Given the description of an element on the screen output the (x, y) to click on. 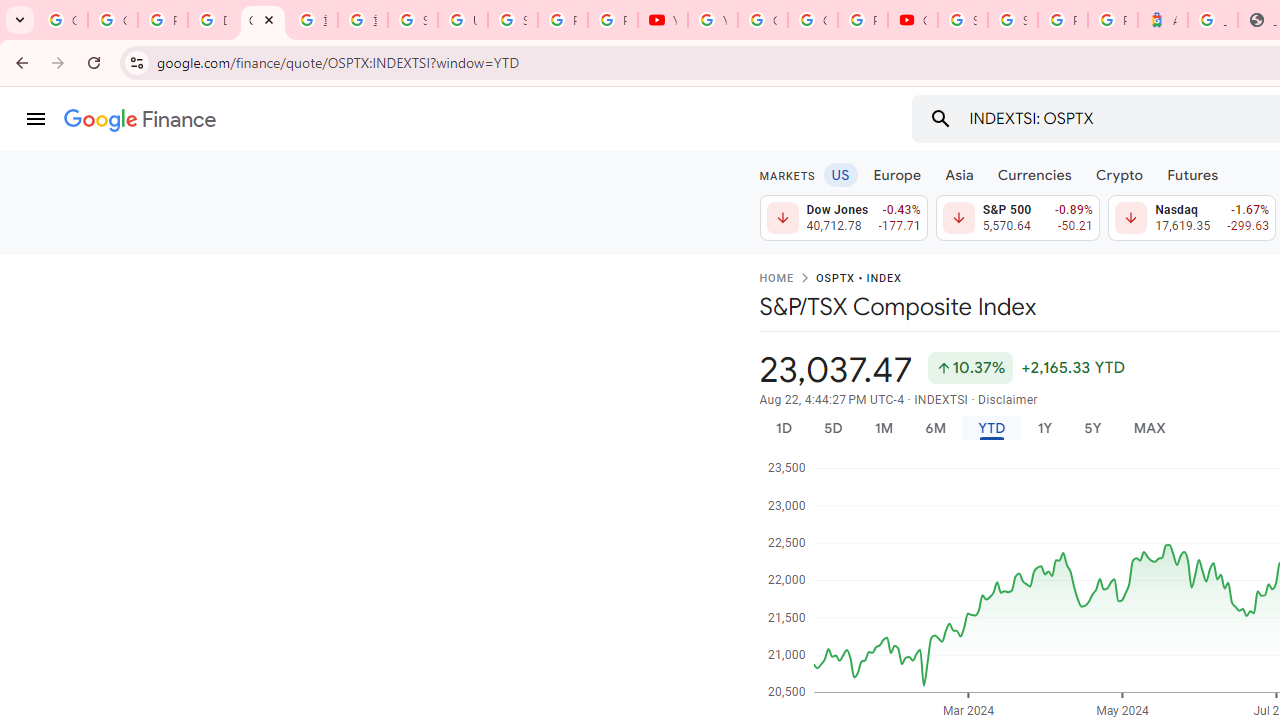
5Y (1092, 427)
US (840, 174)
HOME (776, 279)
MAX (1149, 427)
